Given the description of an element on the screen output the (x, y) to click on. 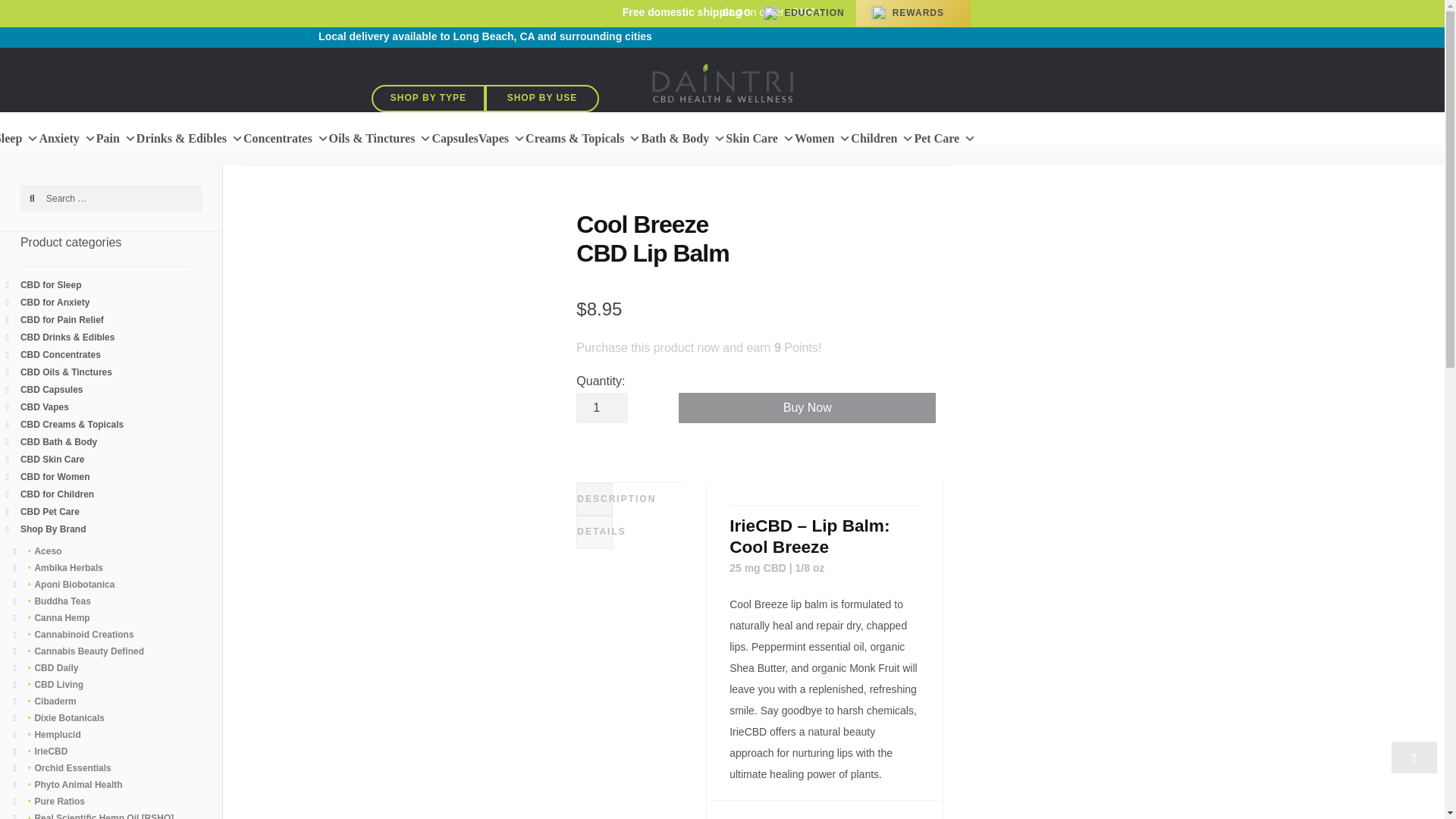
0 items (921, 36)
Anxiety (67, 138)
SHOP BY TYPE (427, 98)
Search (34, 200)
REWARDS (917, 12)
Search (34, 200)
BLOG (737, 12)
SHOP BY USE (541, 98)
View your shopping cart (921, 36)
